Given the description of an element on the screen output the (x, y) to click on. 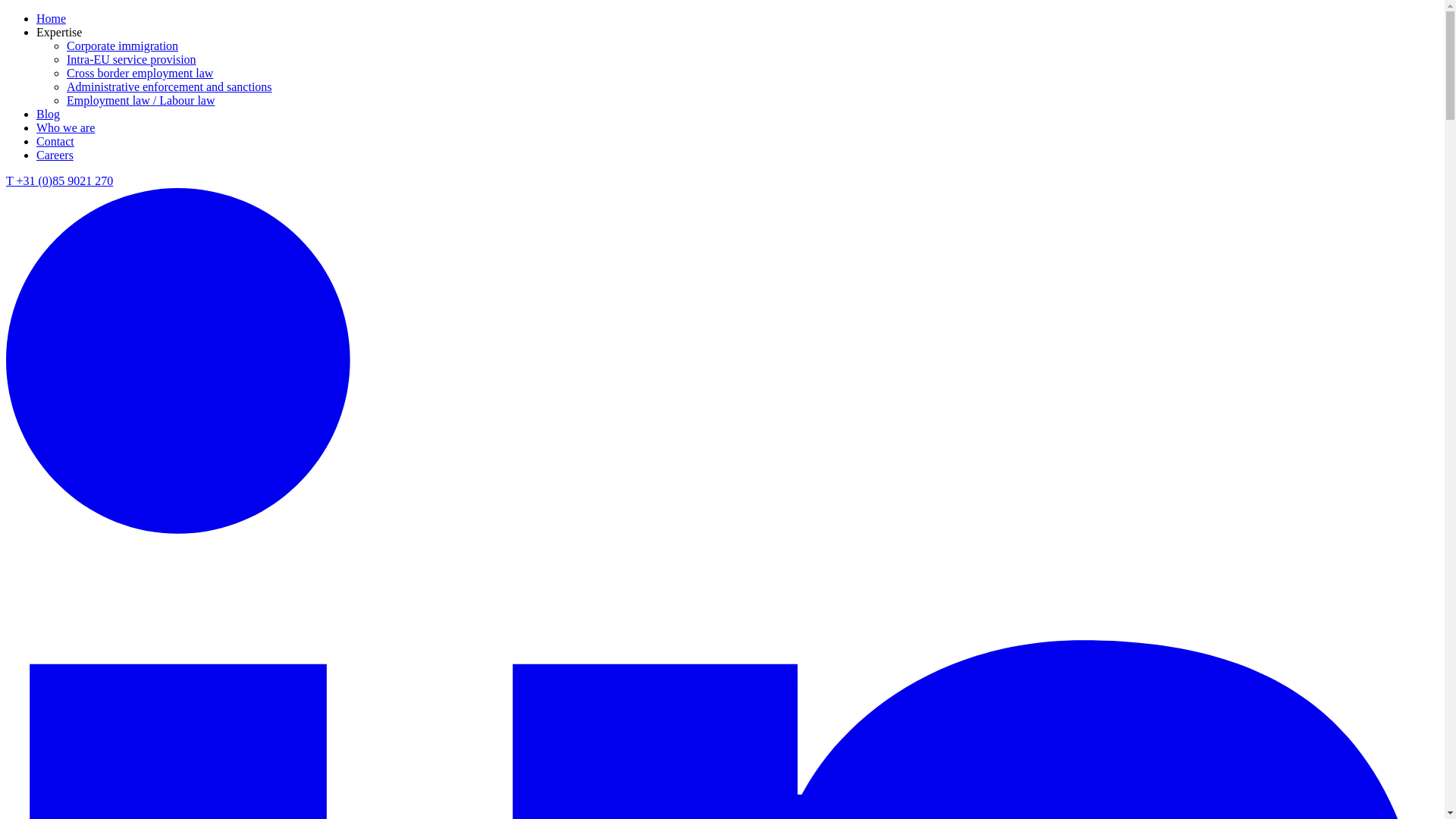
Administrative enforcement and sanctions (169, 86)
Intra-EU service provision (131, 59)
Expertise (58, 31)
Careers (55, 154)
Who we are (65, 127)
Blog (47, 113)
Home (50, 18)
Contact (55, 141)
Cross border employment law (139, 72)
Corporate immigration (121, 45)
